Given the description of an element on the screen output the (x, y) to click on. 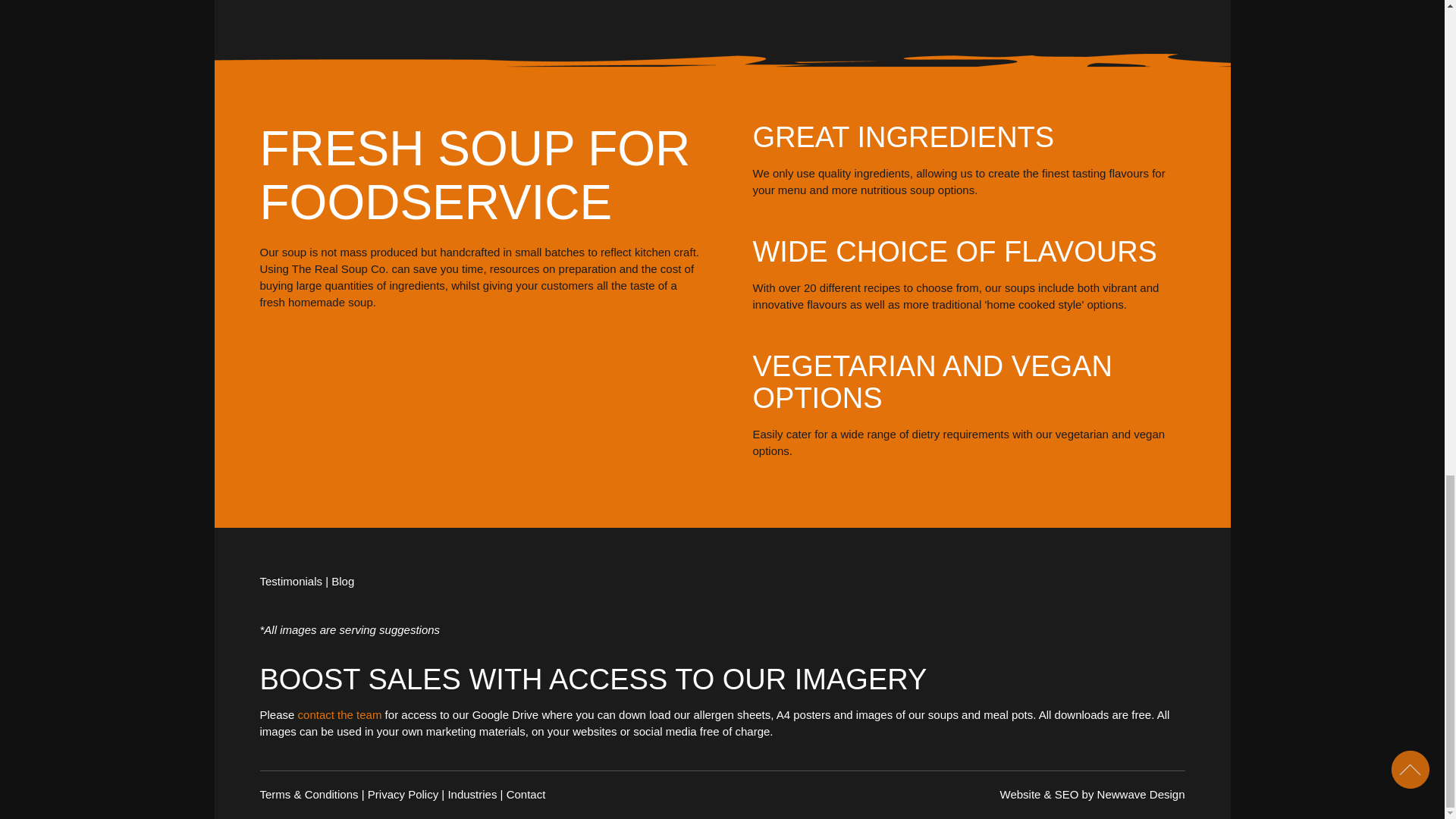
Blog (342, 581)
Industries (471, 793)
Contact (526, 793)
Newwave Design (1141, 793)
Privacy Policy (403, 793)
contact the team (339, 714)
Testimonials (290, 581)
